Given the description of an element on the screen output the (x, y) to click on. 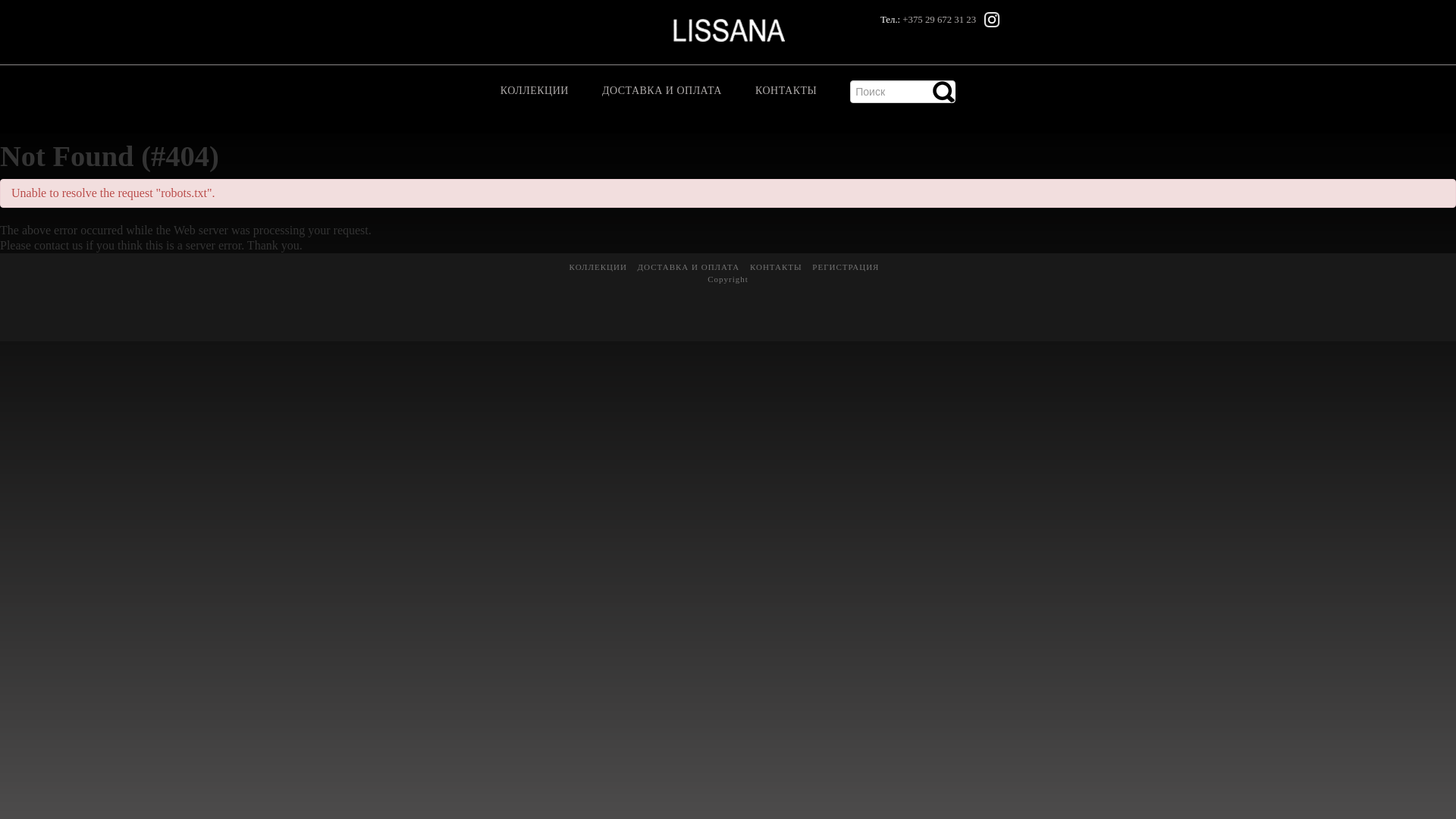
  Element type: text (943, 91)
+375 29 672 31 23 Element type: text (938, 19)
0 Element type: text (902, 98)
